Given the description of an element on the screen output the (x, y) to click on. 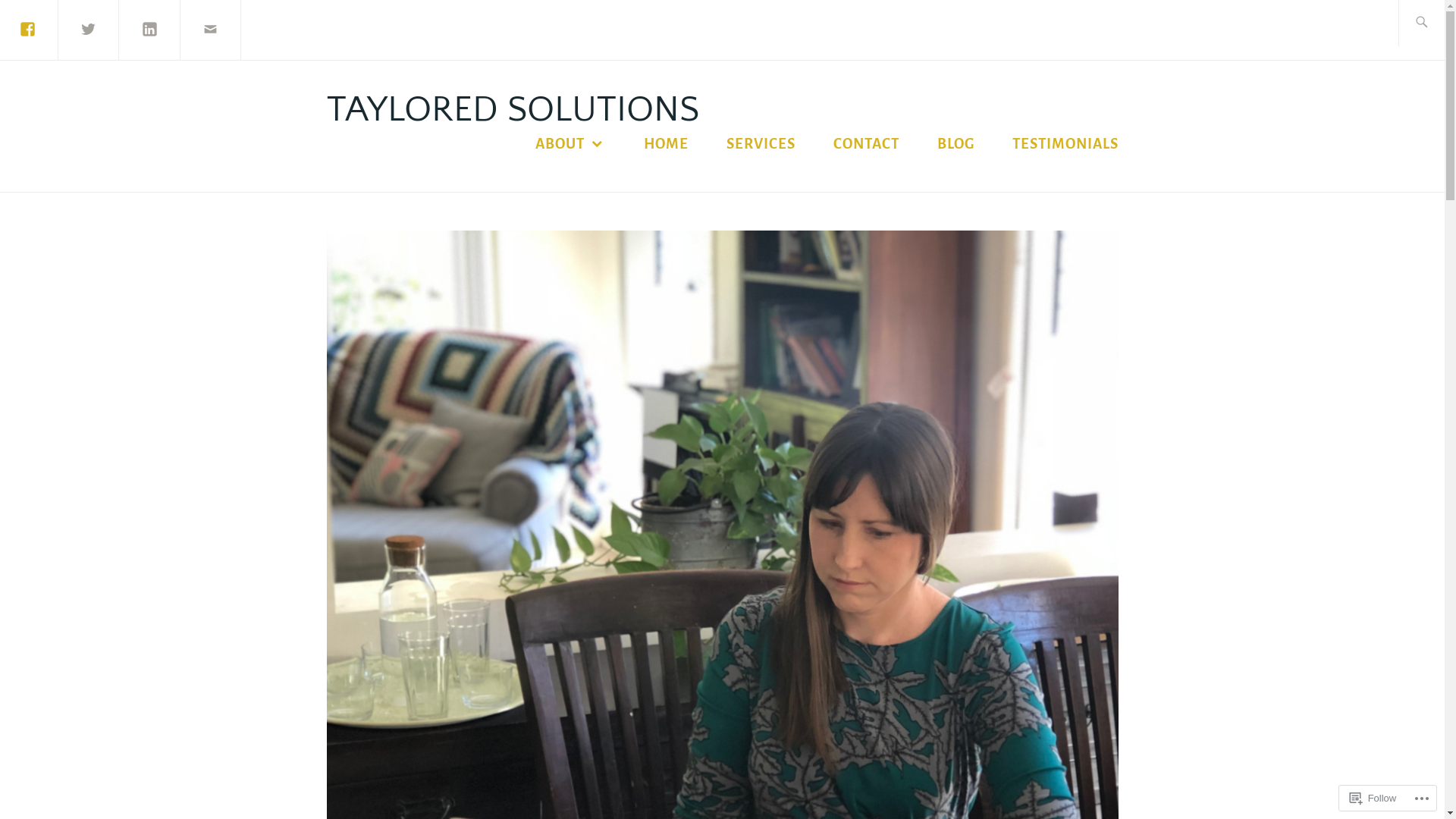
SERVICES Element type: text (760, 144)
HOME Element type: text (665, 144)
TAYLORED SOLUTIONS Element type: text (512, 109)
ABOUT Element type: text (570, 144)
TESTIMONIALS Element type: text (1064, 144)
CONTACT Element type: text (866, 144)
Search Element type: text (54, 28)
Email Element type: hover (210, 28)
Follow Element type: text (1372, 797)
Search for: Element type: hover (1436, 23)
BLOG Element type: text (955, 144)
Linkedin Element type: hover (149, 28)
